Given the description of an element on the screen output the (x, y) to click on. 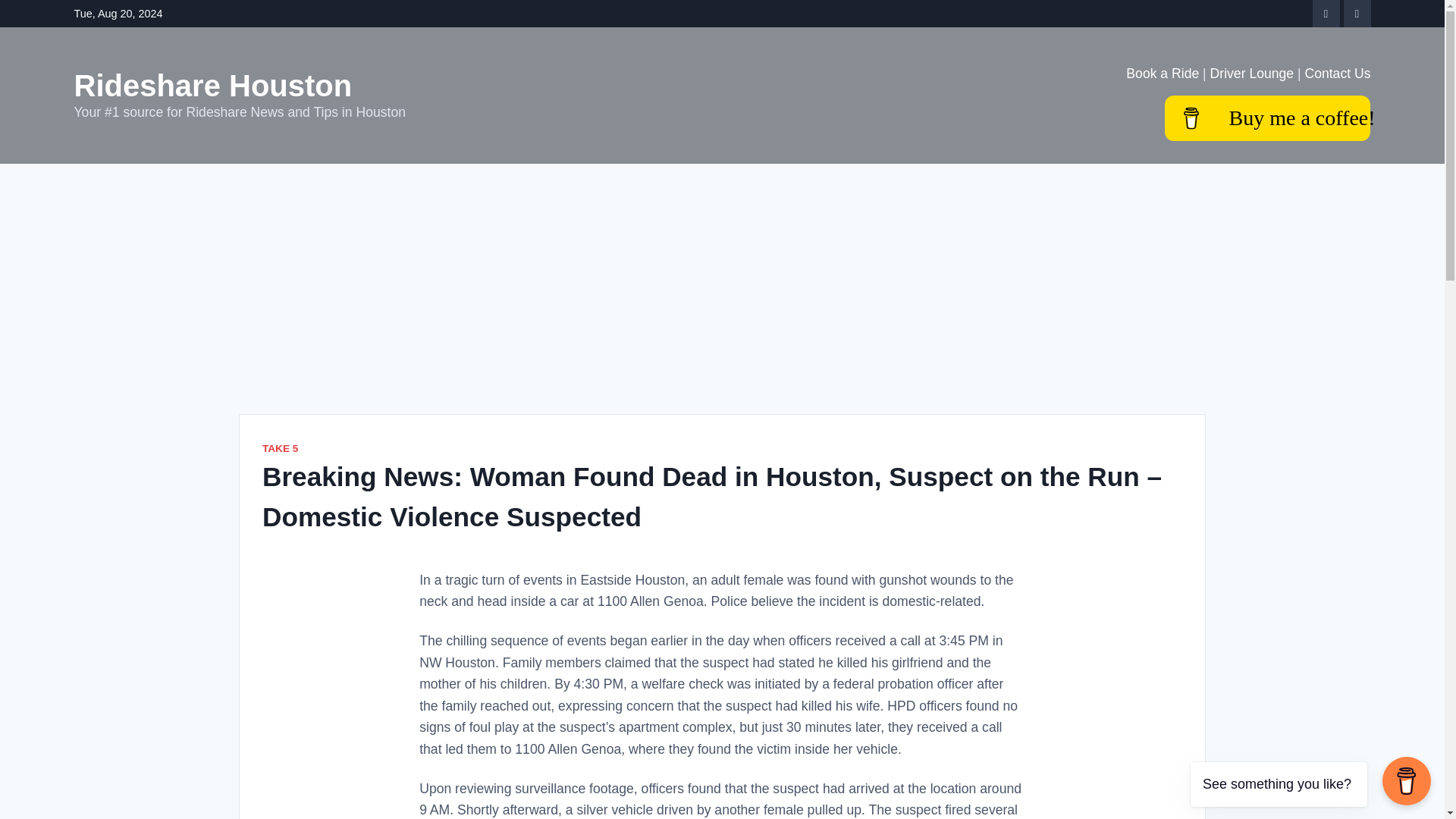
Driver Lounge (1251, 73)
Buy me a coffee! (1267, 117)
Contact Us (1337, 73)
Search (43, 18)
Rideshare Houston (213, 85)
TAKE 5 (280, 448)
Book a Ride (1161, 73)
